Given the description of an element on the screen output the (x, y) to click on. 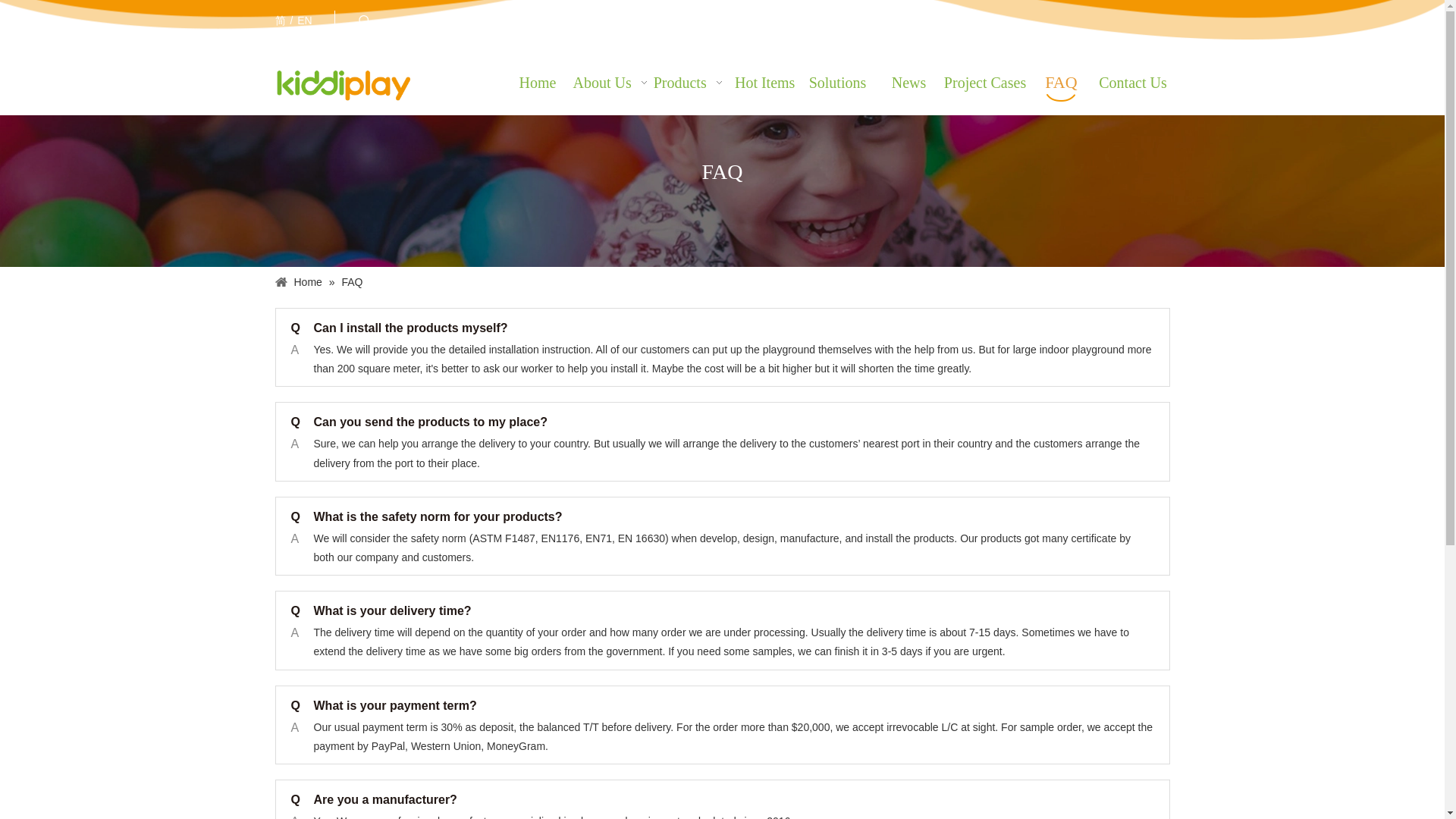
News (908, 82)
Contact Us (1133, 82)
Wenzhou Kiddi Amusement Co., Ltd. (342, 84)
Solutions (838, 82)
About Us   (612, 82)
Hot Items (765, 82)
Home (537, 82)
FAQ (1061, 80)
Products   (691, 82)
Project Cases (984, 82)
